Given the description of an element on the screen output the (x, y) to click on. 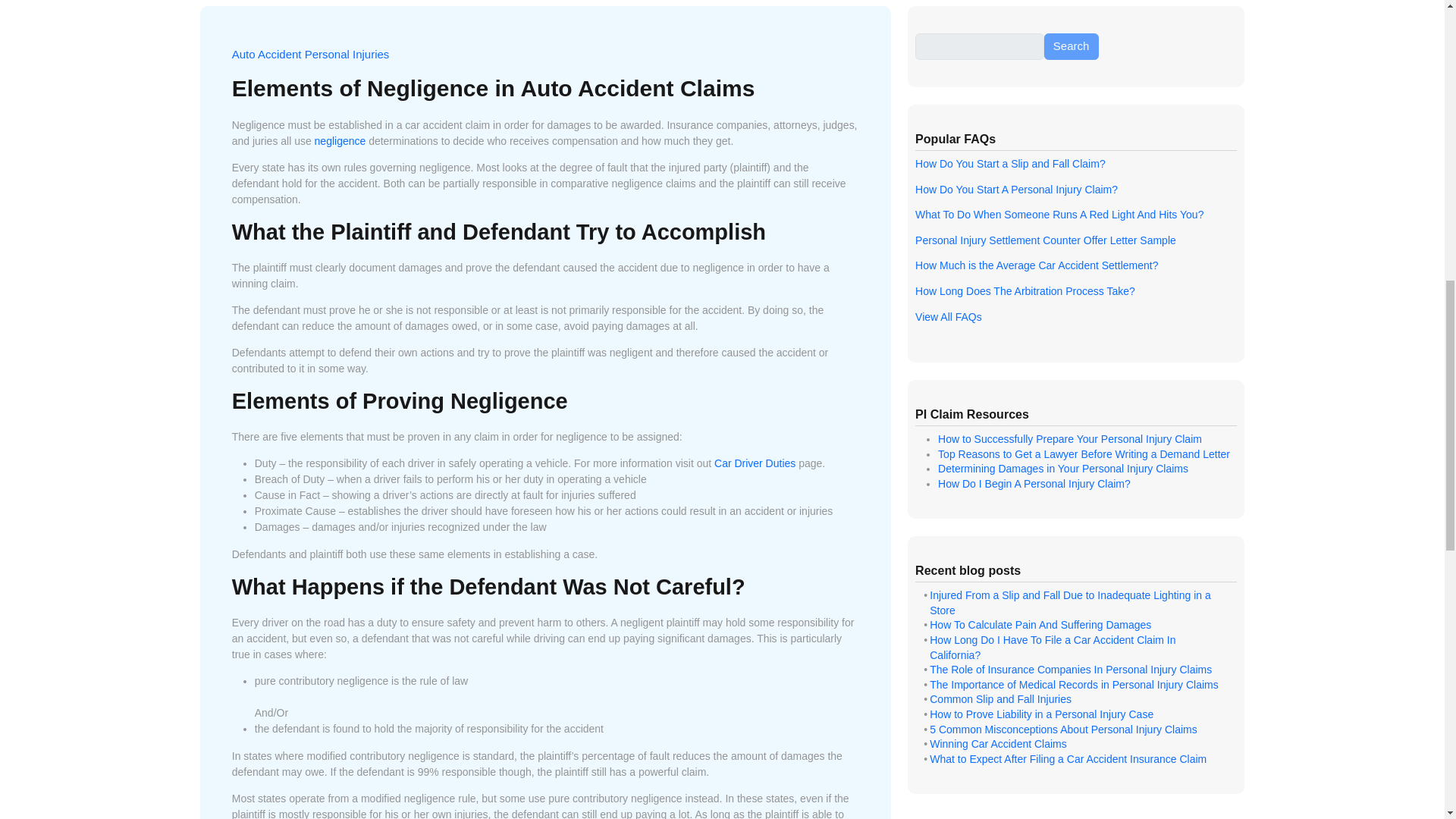
Enter the terms you wish to search for. (979, 46)
Common Slip and Fall Injuries (1000, 698)
How Do You Start a Slip and Fall Claim? (1010, 163)
How to Successfully Prepare Your Personal Injury Claim (1069, 439)
How Do You Start A Personal Injury Claim? (1016, 189)
How Long Does The Arbitration Process Take? (1025, 291)
5 Common Misconceptions About Personal Injury Claims (1063, 729)
How to Prove Liability in a Personal Injury Case (1041, 714)
negligence (340, 141)
How Do I Begin A Personal Injury Claim? (1034, 483)
Search (1071, 46)
What To Do When Someone Runs A Red Light And Hits You? (1059, 214)
Car Driver Duties (754, 463)
Determining Damages in Your Personal Injury Claims (1062, 468)
View All FAQs (948, 316)
